Given the description of an element on the screen output the (x, y) to click on. 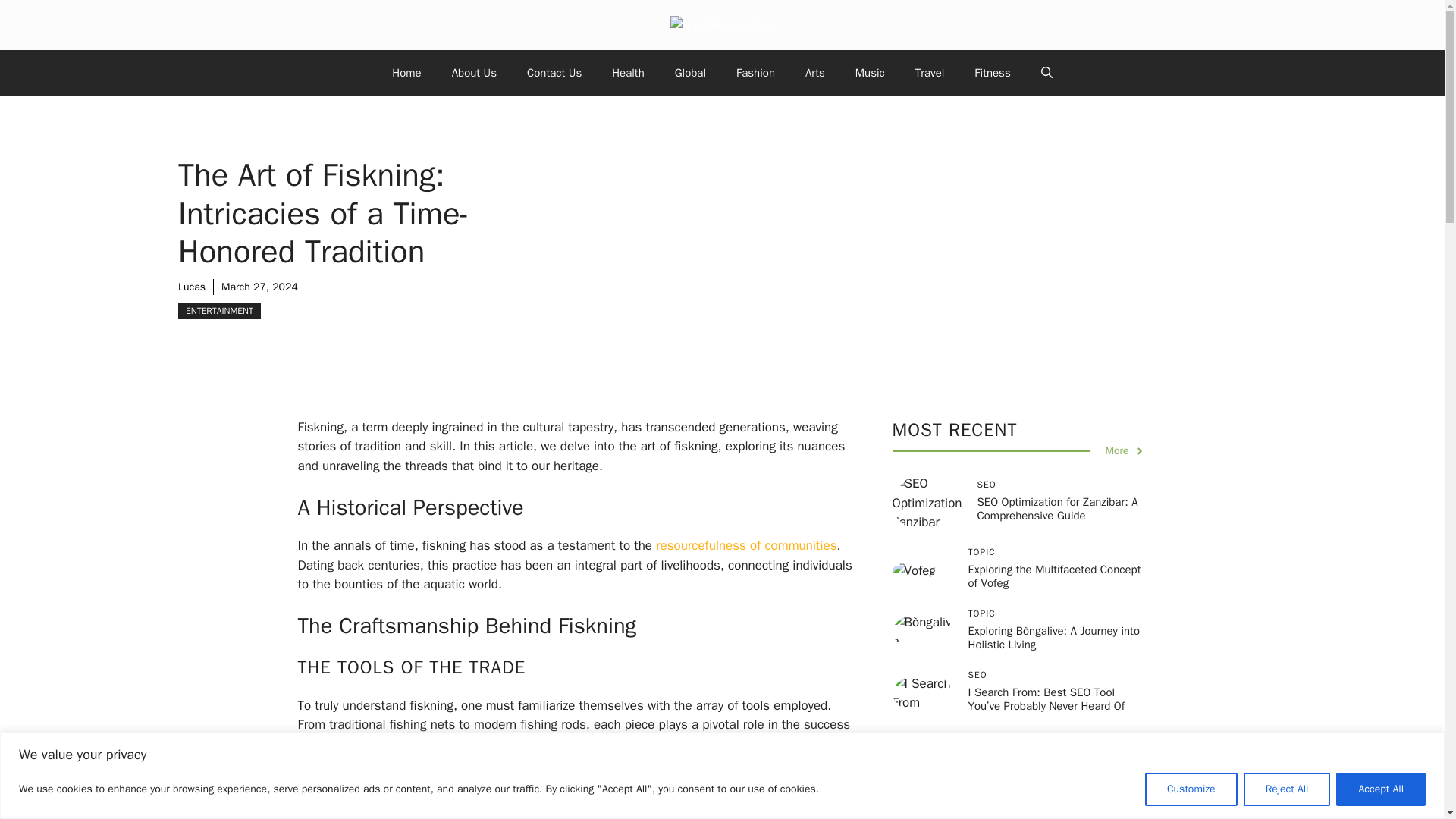
ENTERTAINMENT (218, 310)
Lucas (191, 286)
Accept All (1380, 788)
Arts (815, 72)
Reject All (1286, 788)
Customize (1190, 788)
Music (869, 72)
About Us (474, 72)
Contact Us (554, 72)
SEO Optimization for Zanzibar: A Comprehensive Guide (1056, 508)
More (1124, 450)
Global (689, 72)
Home (406, 72)
Fashion (755, 72)
Fitness (992, 72)
